Given the description of an element on the screen output the (x, y) to click on. 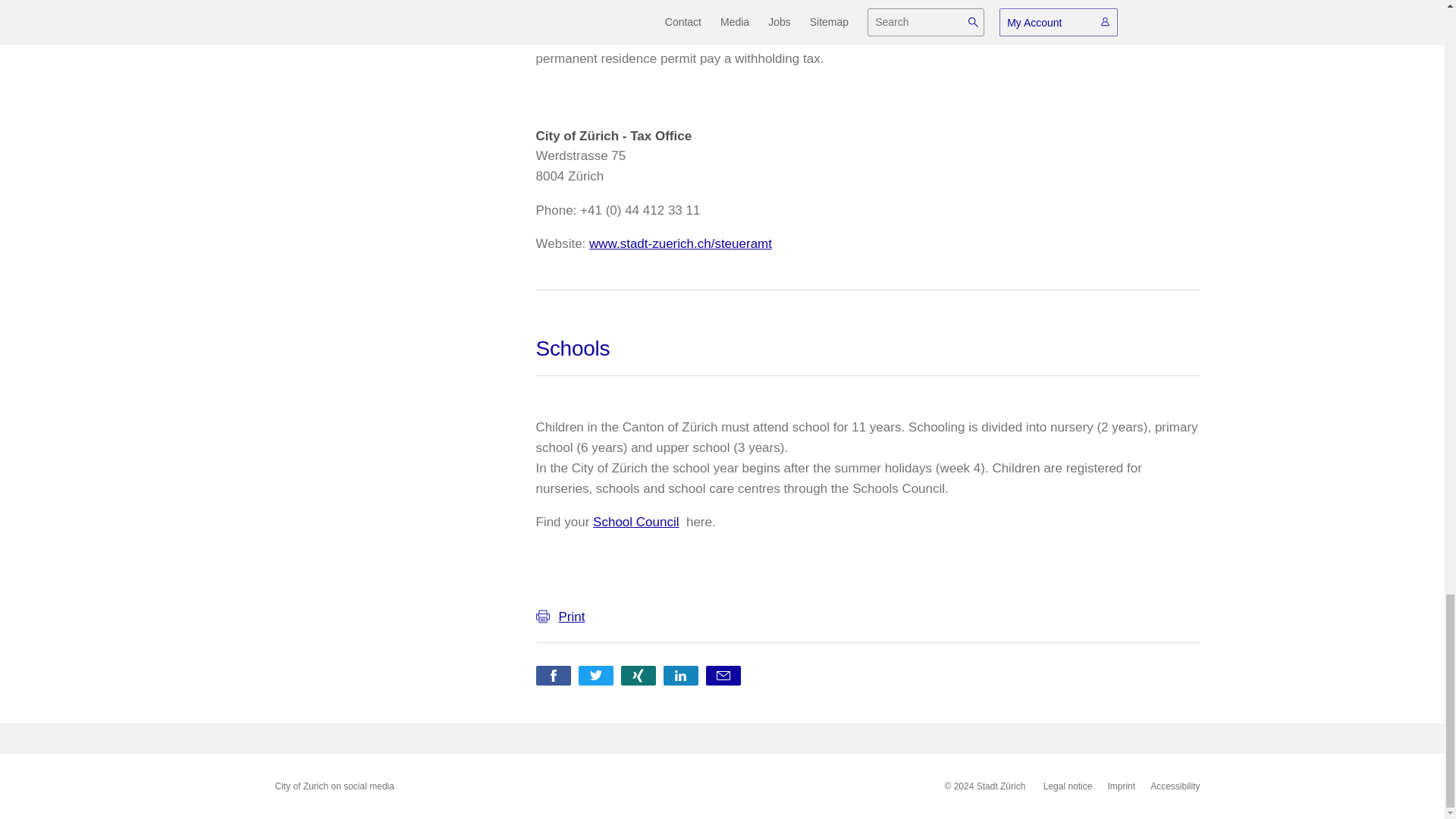
Share on XING (637, 675)
Share on LinkedIn (679, 675)
Share on Twitter (595, 675)
Share on Facebook (552, 675)
Send by email (721, 675)
Print (571, 616)
Print (867, 616)
